Given the description of an element on the screen output the (x, y) to click on. 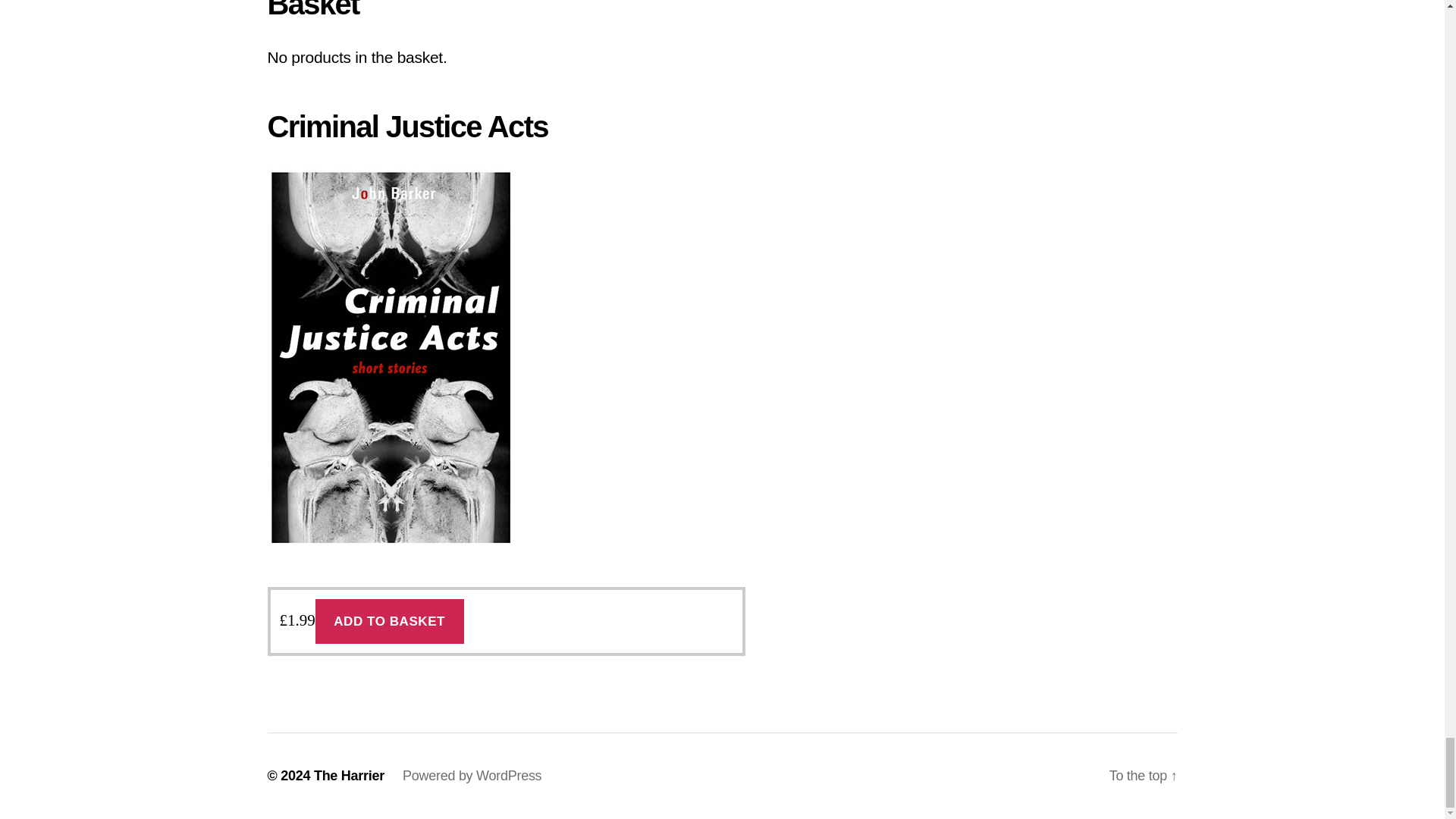
Powered by WordPress (472, 775)
ADD TO BASKET (389, 620)
The Harrier (349, 775)
